Given the description of an element on the screen output the (x, y) to click on. 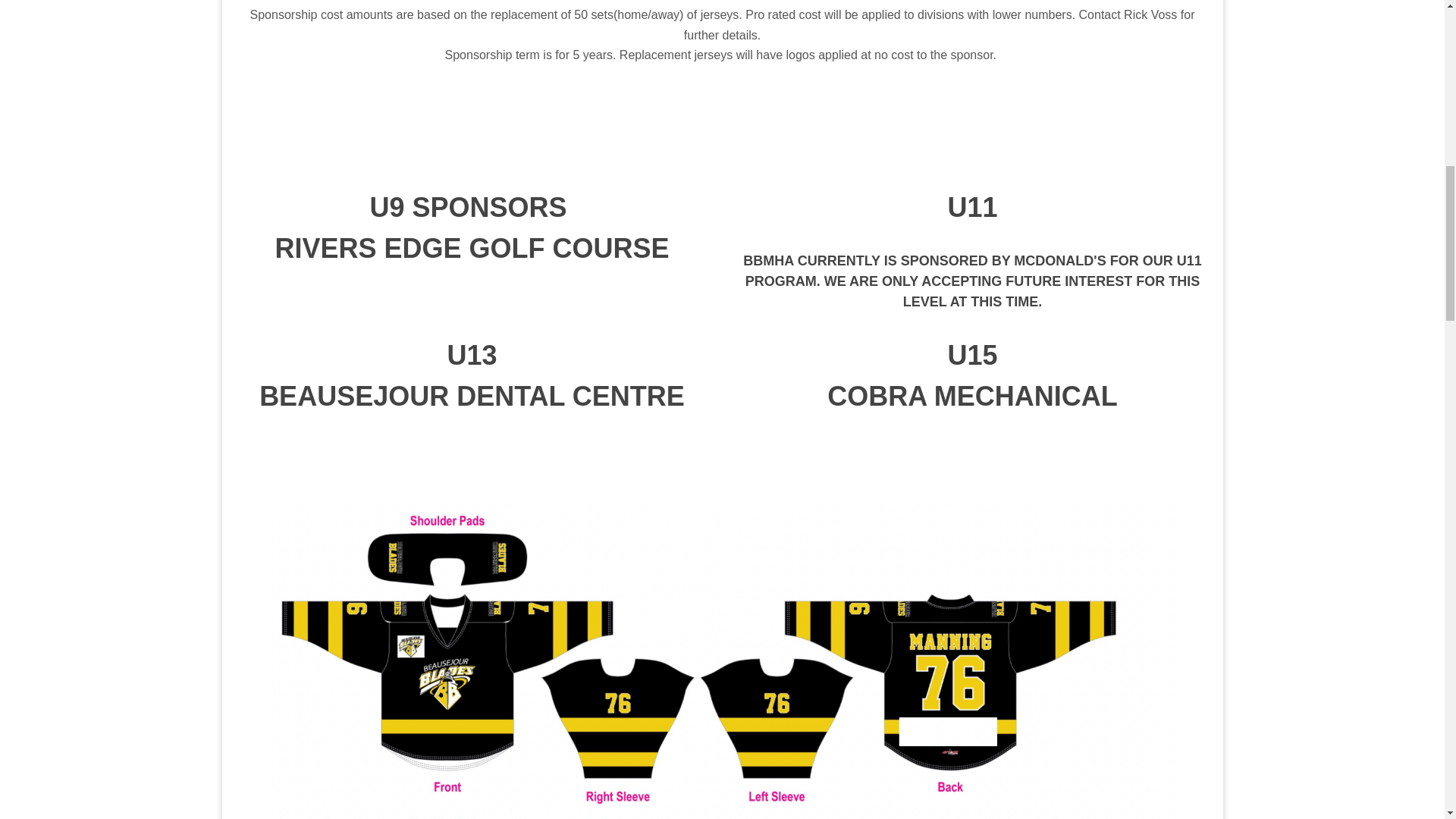
Rich Text Editor, editor3 (971, 249)
Rich Text Editor, editor2 (471, 228)
Rich Text Editor, editor5 (971, 375)
Rich Text Editor, editor4 (471, 375)
